Given the description of an element on the screen output the (x, y) to click on. 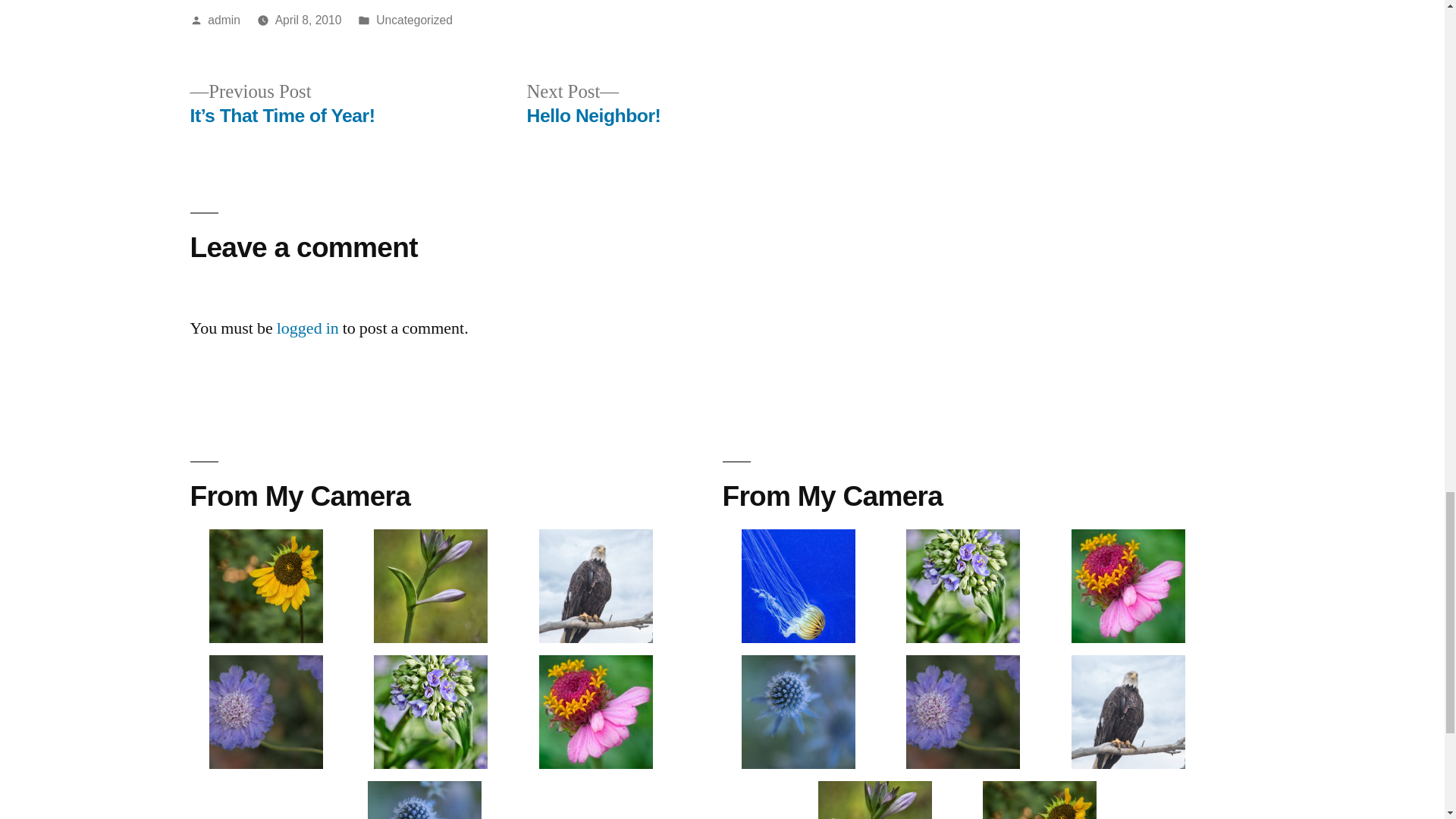
logged in (307, 328)
April 8, 2010 (308, 19)
admin (593, 103)
Uncategorized (224, 19)
